Given the description of an element on the screen output the (x, y) to click on. 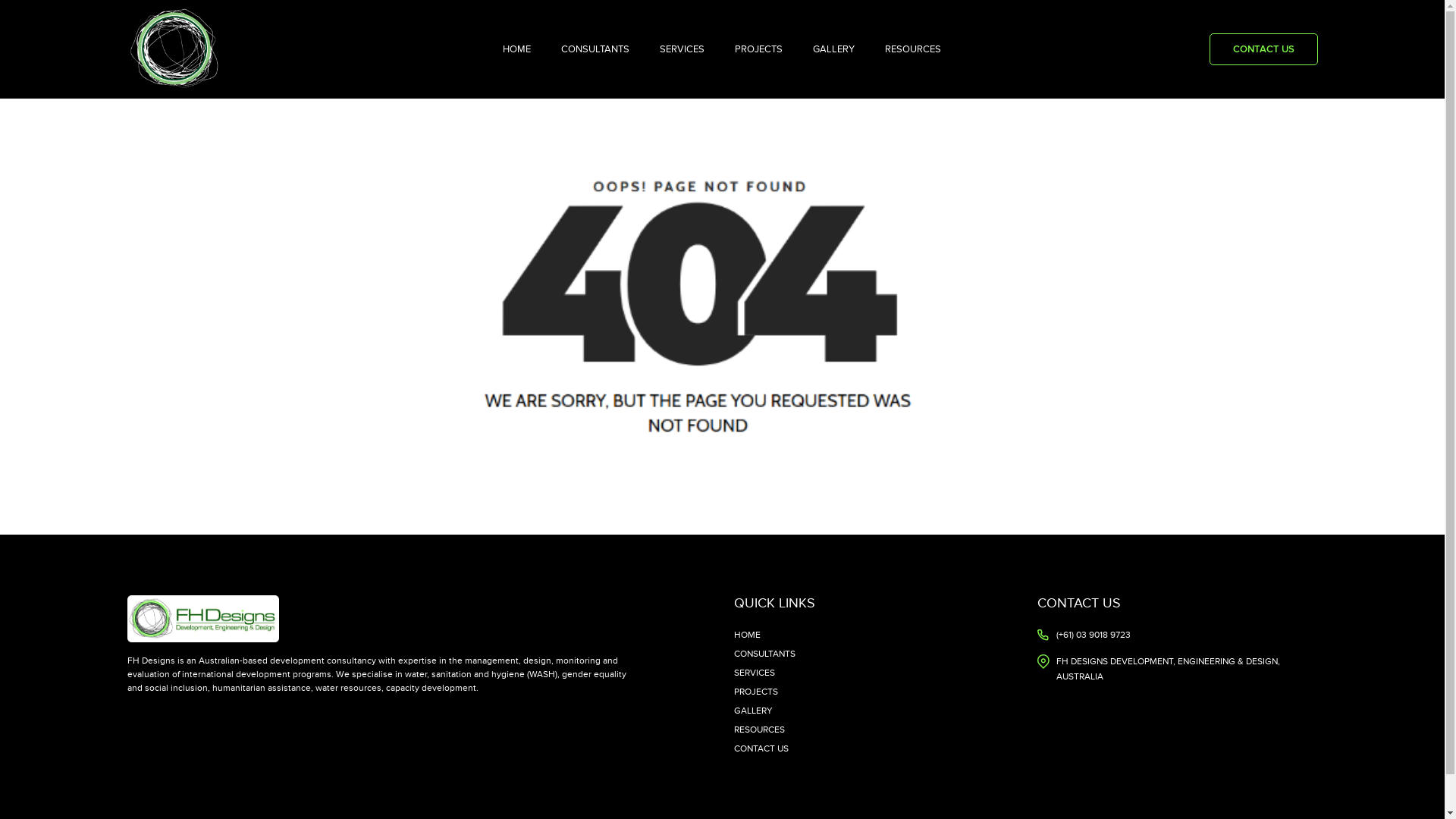
PROJECTS Element type: text (758, 48)
RESOURCES Element type: text (912, 48)
GALLERY Element type: text (833, 48)
RESOURCES Element type: text (759, 729)
CONTACT US Element type: text (761, 748)
CONSULTANTS Element type: text (595, 48)
CONTACT US Element type: text (1262, 49)
HOME Element type: text (747, 634)
PROJECTS Element type: text (756, 691)
FH Designs Element type: hover (174, 48)
(+61) 03 9018 9723 Element type: text (1092, 634)
HOME Element type: text (516, 48)
CONSULTANTS Element type: text (764, 653)
SERVICES Element type: text (754, 672)
FH DESIGNS DEVELOPMENT, ENGINEERING & DESIGN, AUSTRALIA Element type: text (1186, 668)
GALLERY Element type: text (753, 710)
SERVICES Element type: text (681, 48)
